Given the description of an element on the screen output the (x, y) to click on. 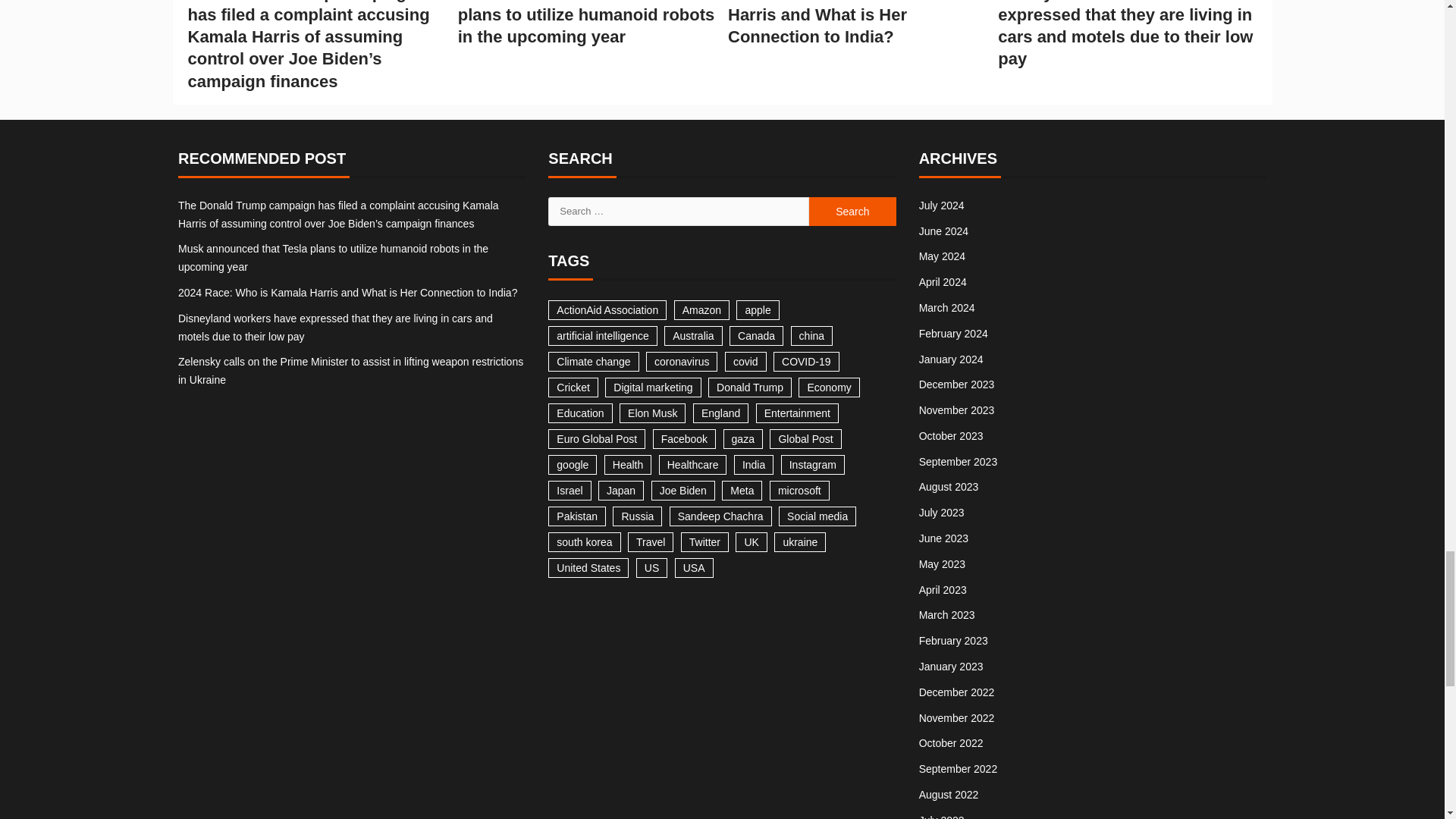
Search (852, 211)
Search (852, 211)
